Given the description of an element on the screen output the (x, y) to click on. 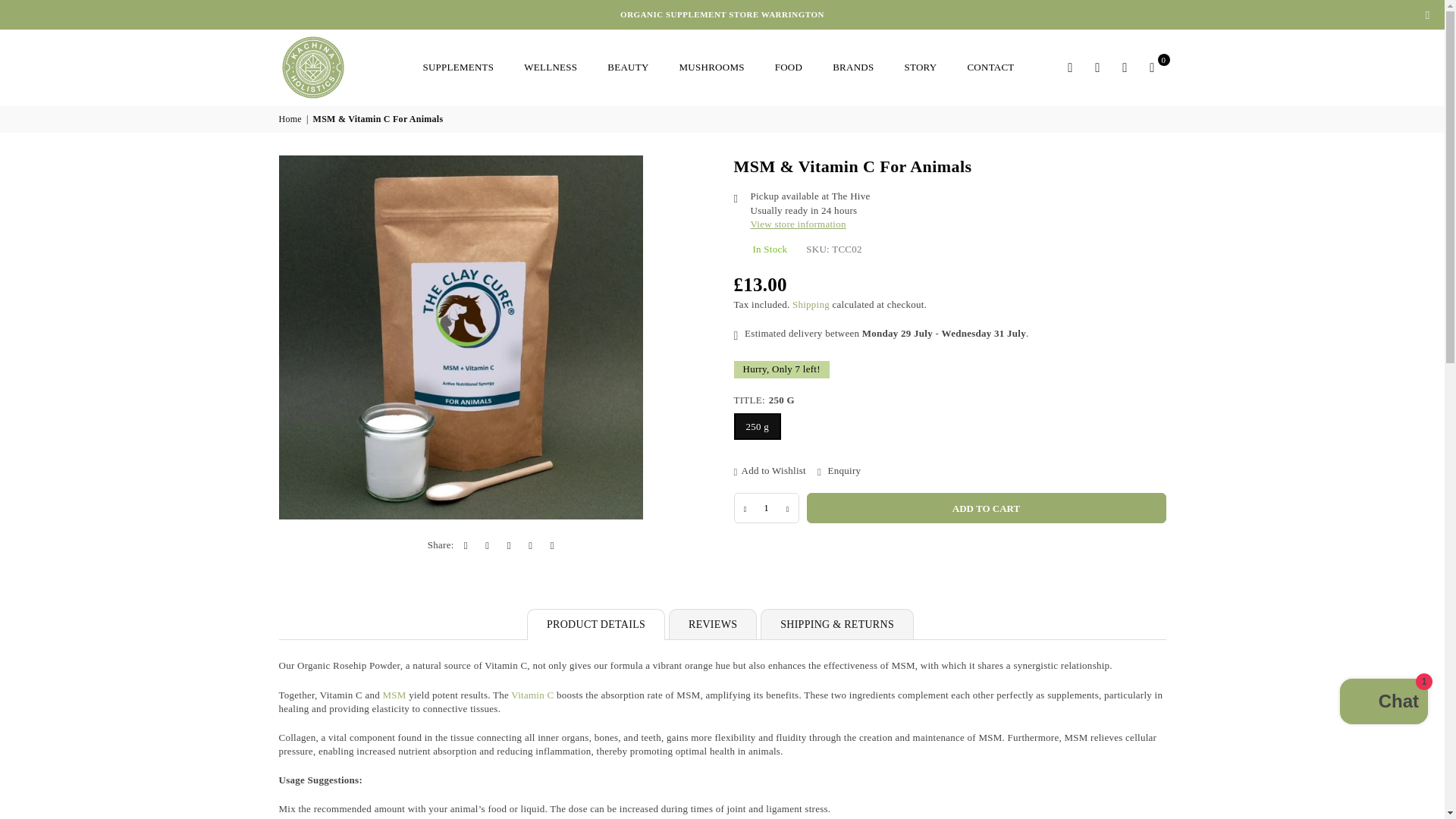
Settings (1098, 67)
Wishlist (1125, 67)
Back to the home page (291, 119)
Cart (1152, 67)
SUPPLEMENTS (457, 67)
Search (1070, 67)
Quantity (766, 508)
KACHINA HOLISTICS (343, 67)
